Given the description of an element on the screen output the (x, y) to click on. 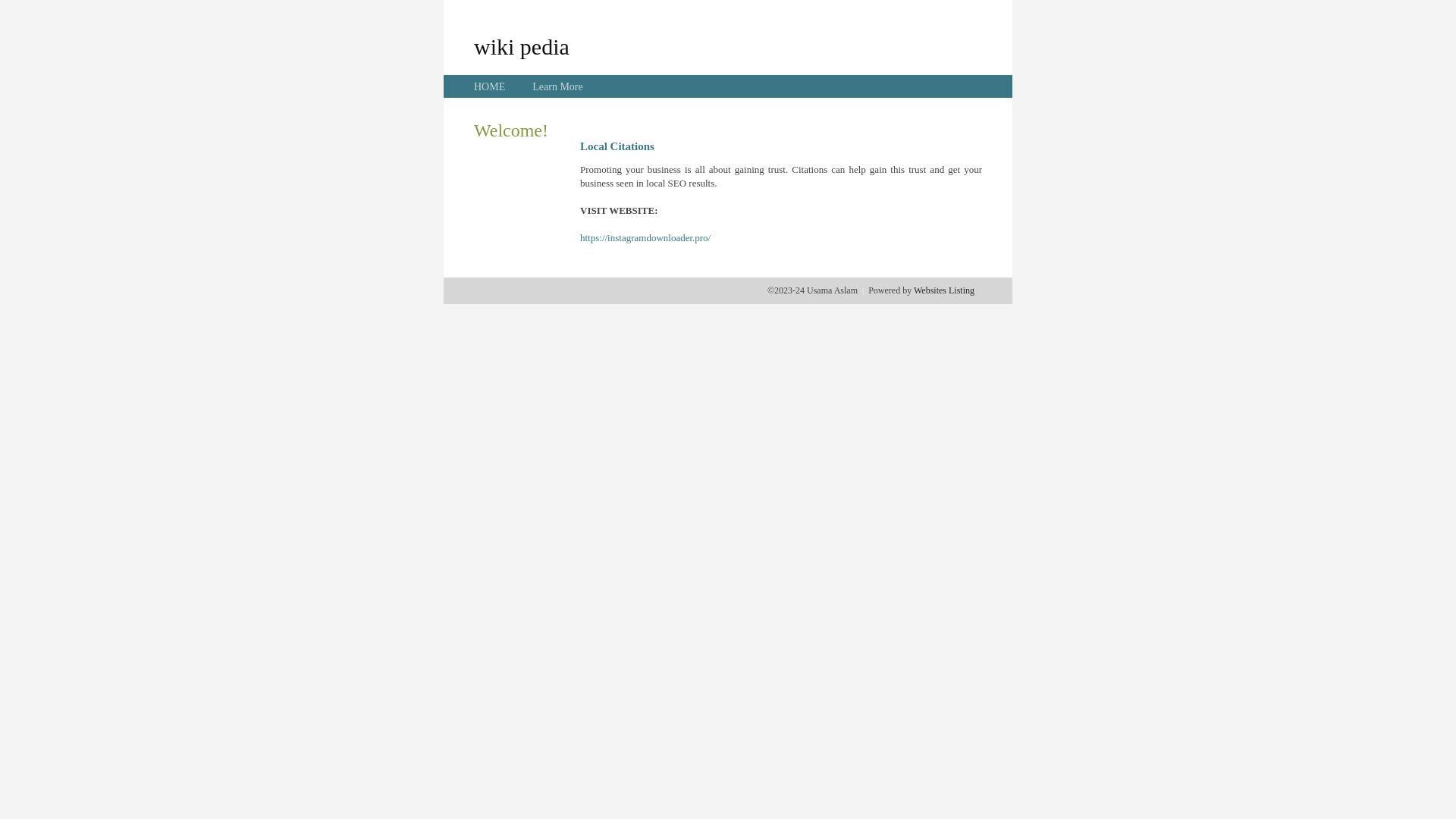
Websites Listing Element type: text (943, 290)
https://instagramdownloader.pro/ Element type: text (645, 237)
HOME Element type: text (489, 86)
Learn More Element type: text (557, 86)
wiki pedia Element type: text (521, 46)
